Given the description of an element on the screen output the (x, y) to click on. 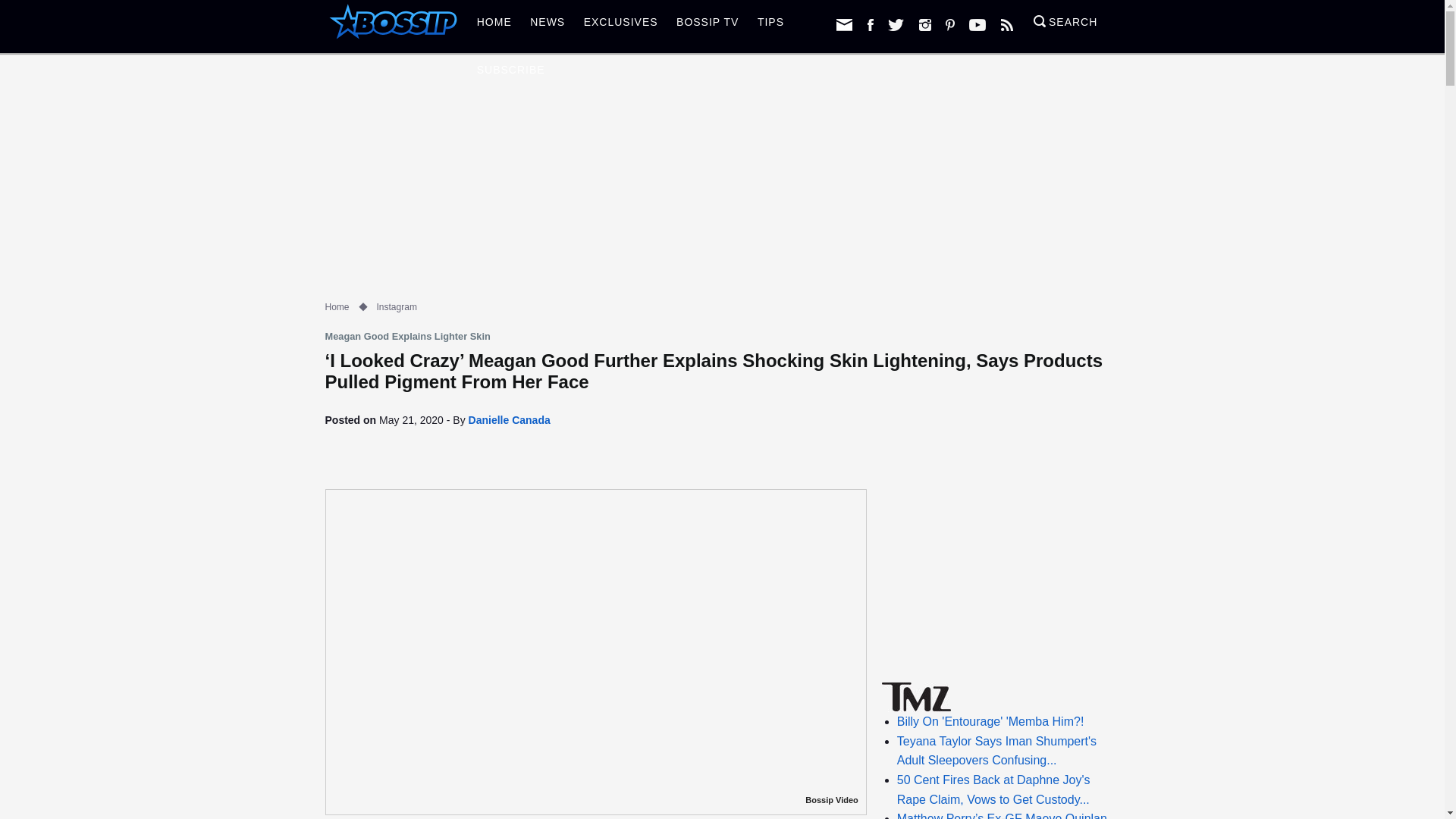
newsletter (843, 24)
BOSSIP TV (706, 26)
Subscribe to our newsletter (843, 24)
youtube (977, 24)
Instagram (396, 307)
Follow Bossip with RSS (1007, 24)
EXCLUSIVES (620, 26)
Posts by Danielle Canada (509, 419)
NEWS (547, 26)
SUBSCRIBE (510, 74)
SEARCH (1065, 26)
HOME (493, 26)
Subscribe to Bossip on YouTube (977, 24)
rss (1007, 24)
Home (336, 307)
